Given the description of an element on the screen output the (x, y) to click on. 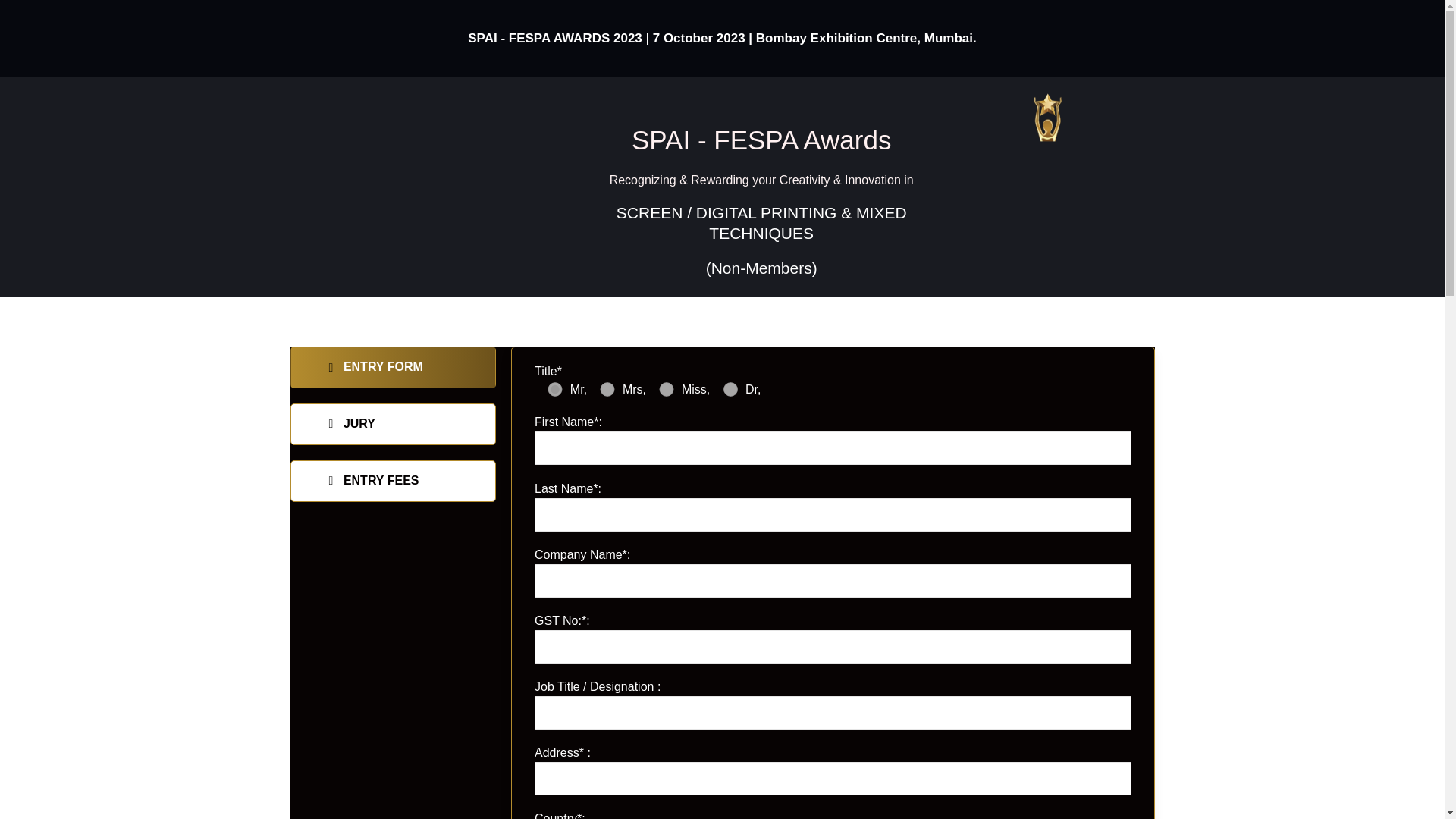
Mr, (555, 389)
ENTRY FEES (392, 481)
Dr, (730, 389)
Miss, (666, 389)
Mrs, (606, 389)
ENTRY FORM (392, 367)
JURY (392, 424)
